Given the description of an element on the screen output the (x, y) to click on. 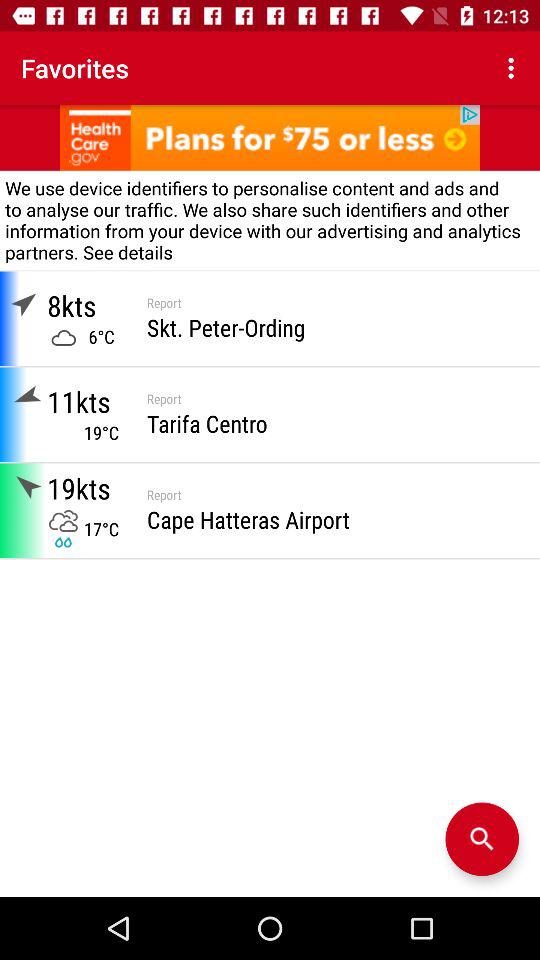
advertisement page (270, 137)
